Given the description of an element on the screen output the (x, y) to click on. 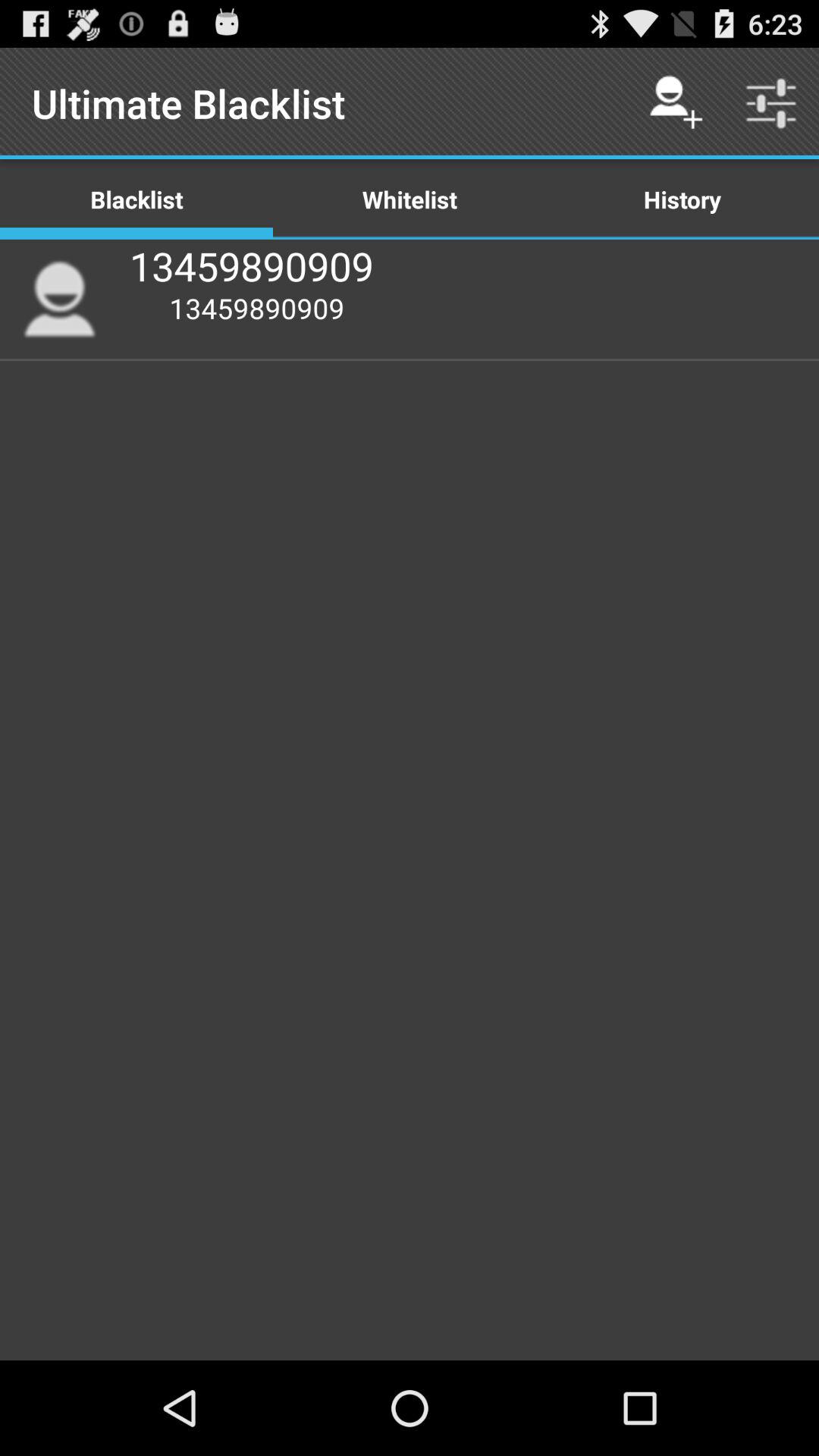
press the item next to whitelist (675, 103)
